Given the description of an element on the screen output the (x, y) to click on. 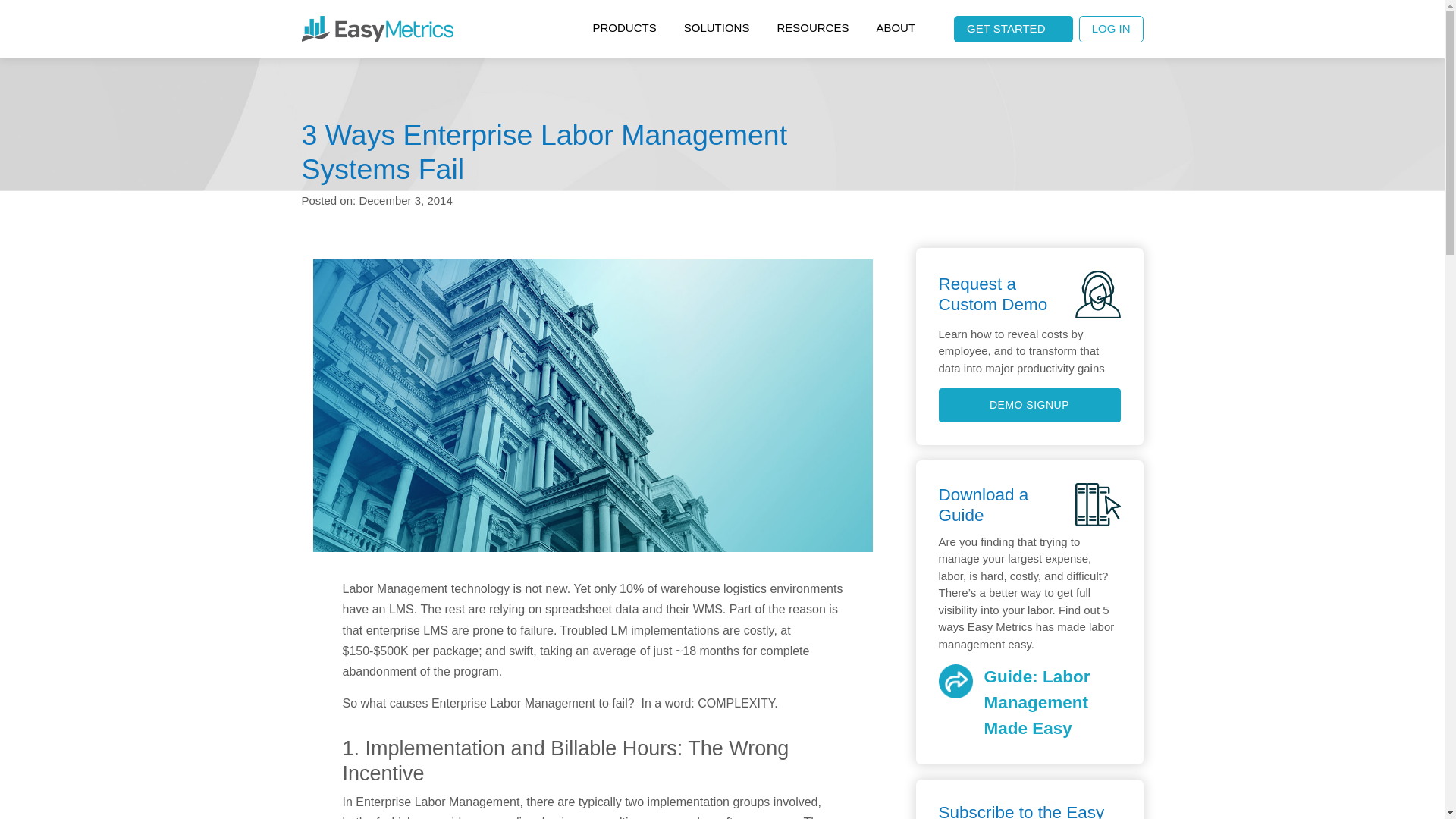
SOLUTIONS (715, 29)
PRODUCTS (624, 29)
RESOURCES (811, 29)
Guide: Labor Management Made Easy (1030, 702)
GET STARTED (1013, 28)
ABOUT (894, 29)
DEMO SIGNUP (1030, 405)
LOG IN (1110, 28)
